Given the description of an element on the screen output the (x, y) to click on. 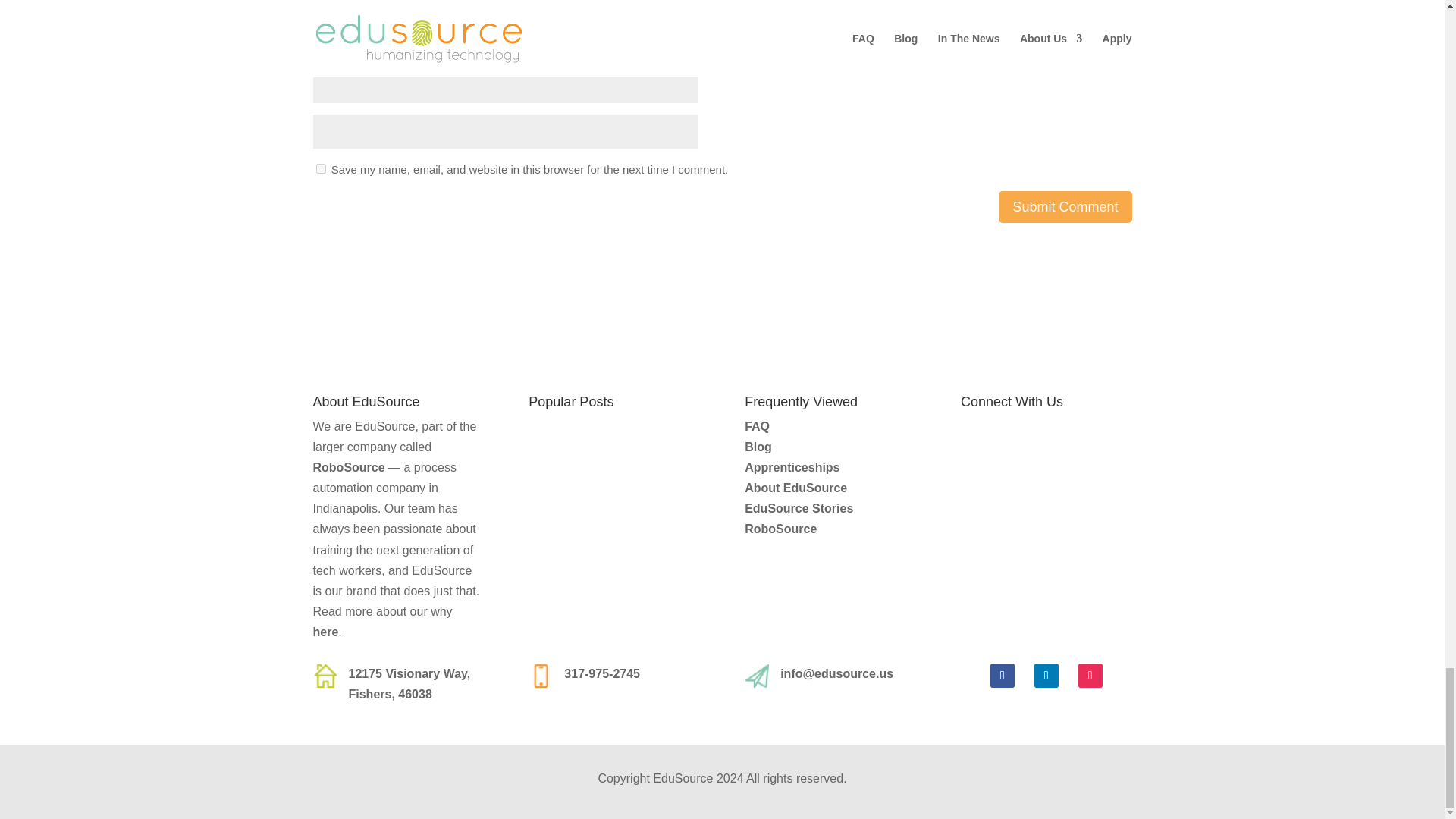
Follow on LinkedIn (1045, 675)
Submit Comment (1064, 205)
here (325, 631)
Apprenticeships (792, 467)
Follow on Instagram (1090, 675)
yes (319, 168)
Submit Comment (1064, 205)
Follow on Facebook (1002, 675)
RoboSource (348, 467)
Blog (757, 446)
